Given the description of an element on the screen output the (x, y) to click on. 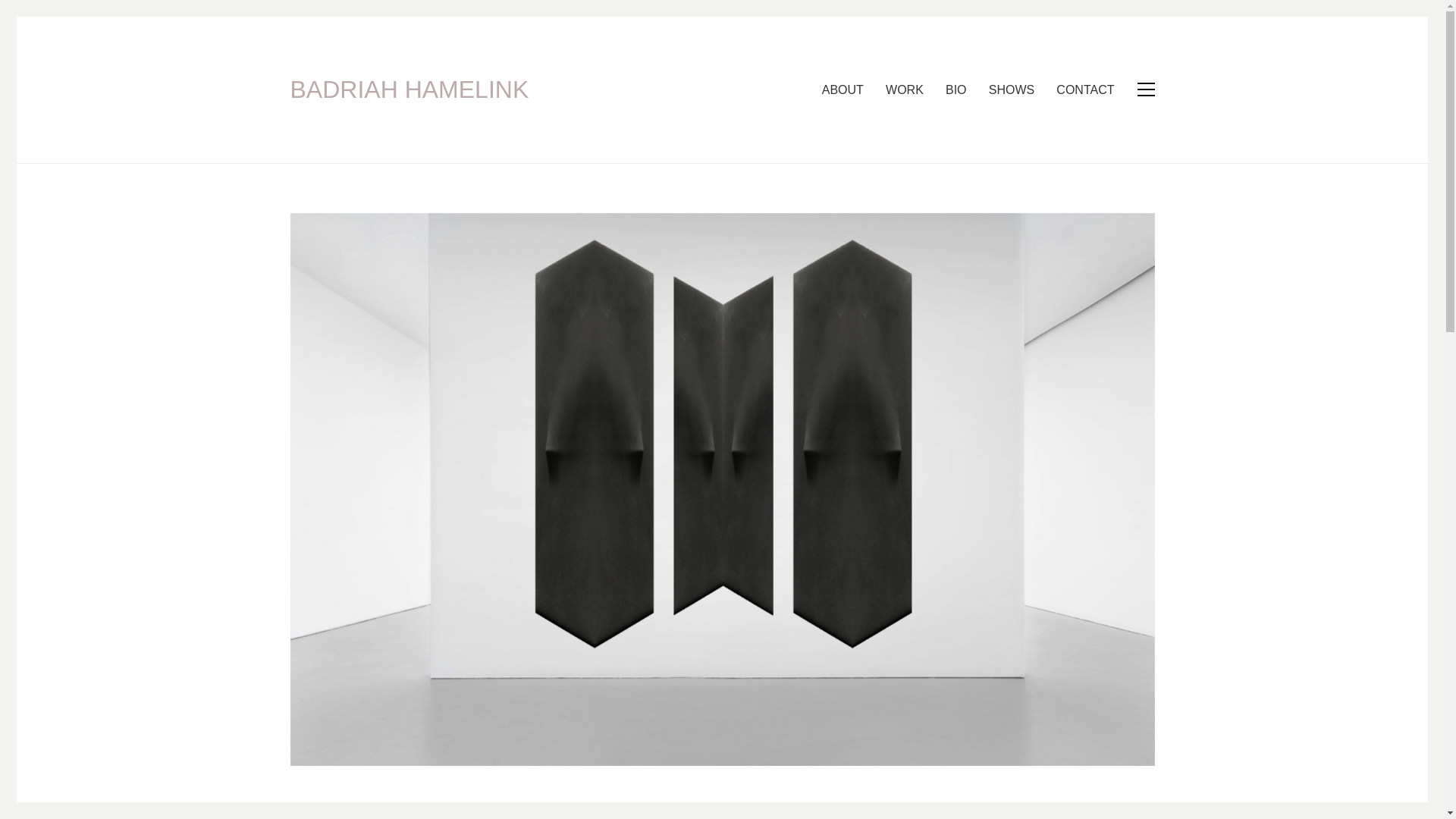
BIO (955, 89)
CONTACT (1085, 89)
ABOUT (842, 89)
SHOWS (1010, 89)
WORK (904, 89)
BADRIAH HAMELINK (408, 89)
